Given the description of an element on the screen output the (x, y) to click on. 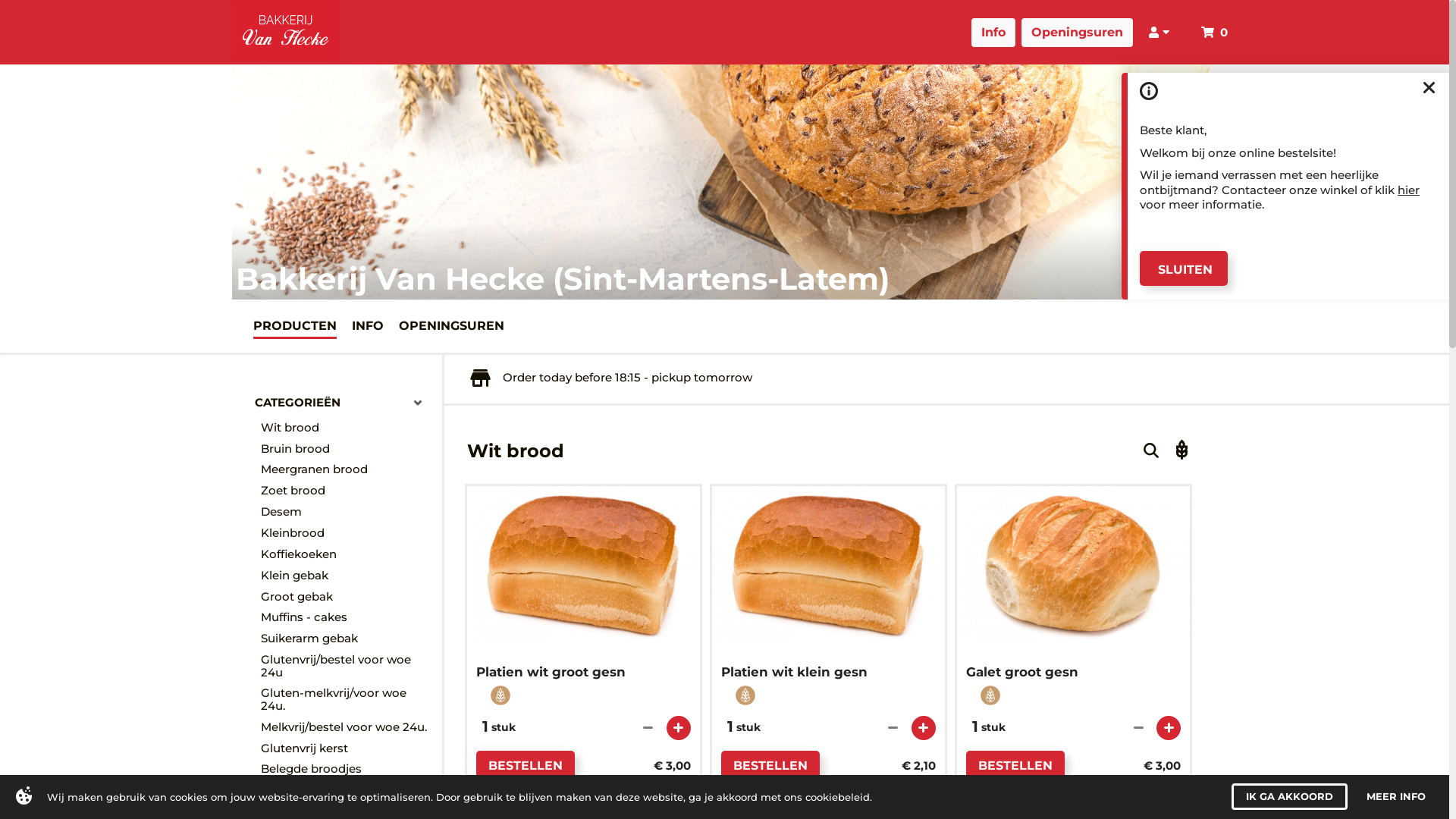
OPENINGSUREN Element type: text (451, 325)
Openingsuren Element type: text (1094, 32)
IK GA AKKOORD Element type: text (1289, 796)
INFO Element type: text (367, 325)
Wit brood Element type: text (346, 427)
Desem Element type: text (346, 511)
Belegde broodjes Element type: text (346, 769)
hier Element type: text (1408, 189)
Kleinbrood Element type: text (346, 532)
Muffins - cakes Element type: text (346, 617)
0 Element type: text (1218, 29)
Gluten-melkvrij/voor woe 24u. Element type: text (346, 700)
Klein gebak Element type: text (346, 575)
Info Element type: text (1010, 32)
Groot gebak Element type: text (346, 596)
Koffiekoeken Element type: text (346, 554)
SLUITEN Element type: text (1183, 268)
Melkvrij/bestel voor woe 24u. Element type: text (346, 727)
Glutenvrij kerst Element type: text (346, 748)
MEER INFO Element type: text (1395, 796)
Order today before 18:15 - pickup tomorrow Element type: text (611, 377)
Meergranen brood Element type: text (346, 470)
PRODUCTEN Element type: text (294, 325)
Zoet brood Element type: text (346, 490)
Suikerarm gebak Element type: text (346, 638)
Bruin brood Element type: text (346, 448)
Glutenvrij/bestel voor woe 24u Element type: text (346, 665)
Moederdag Element type: text (346, 790)
